Given the description of an element on the screen output the (x, y) to click on. 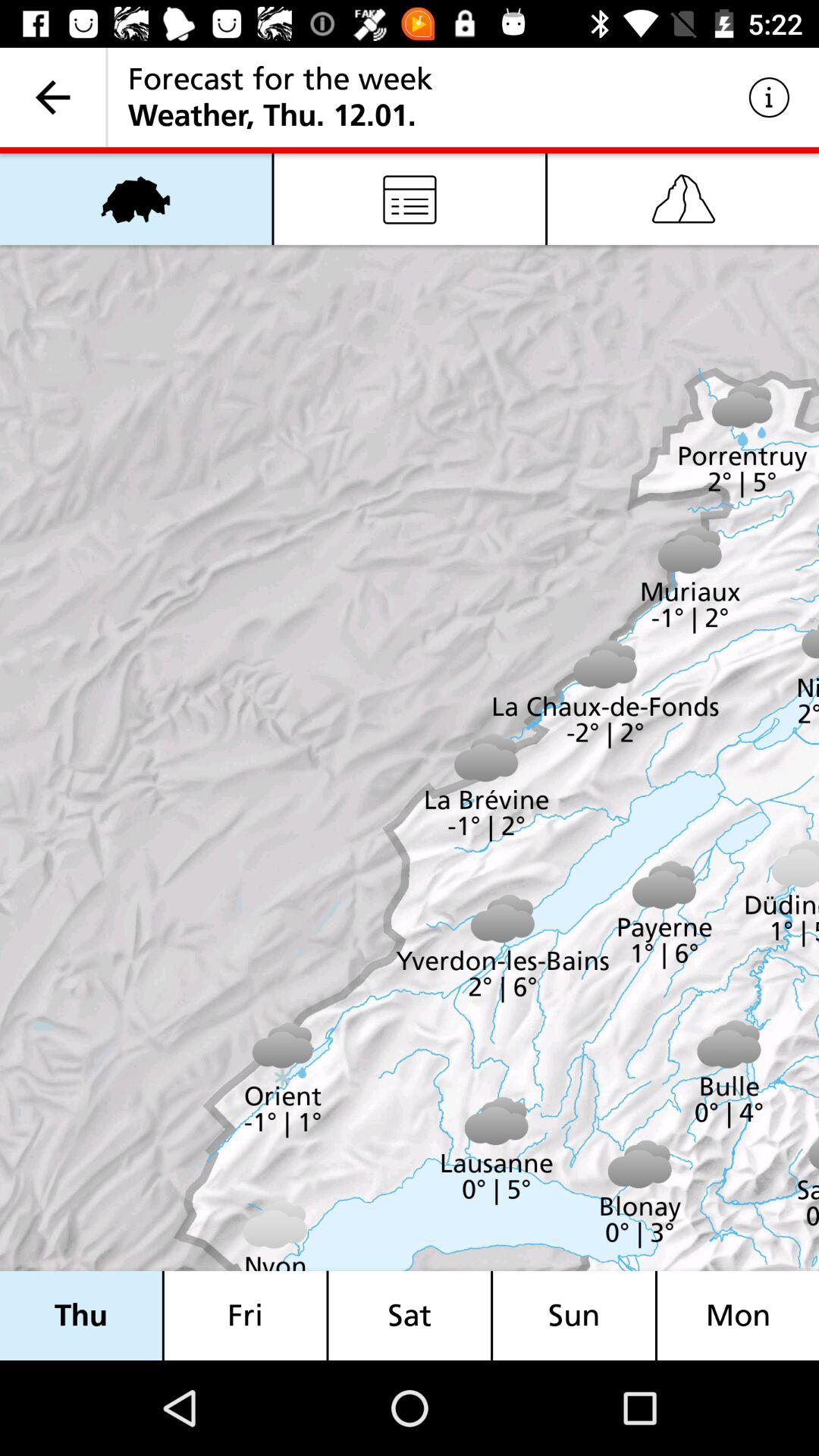
press item to the left of the forecast for the item (52, 97)
